Given the description of an element on the screen output the (x, y) to click on. 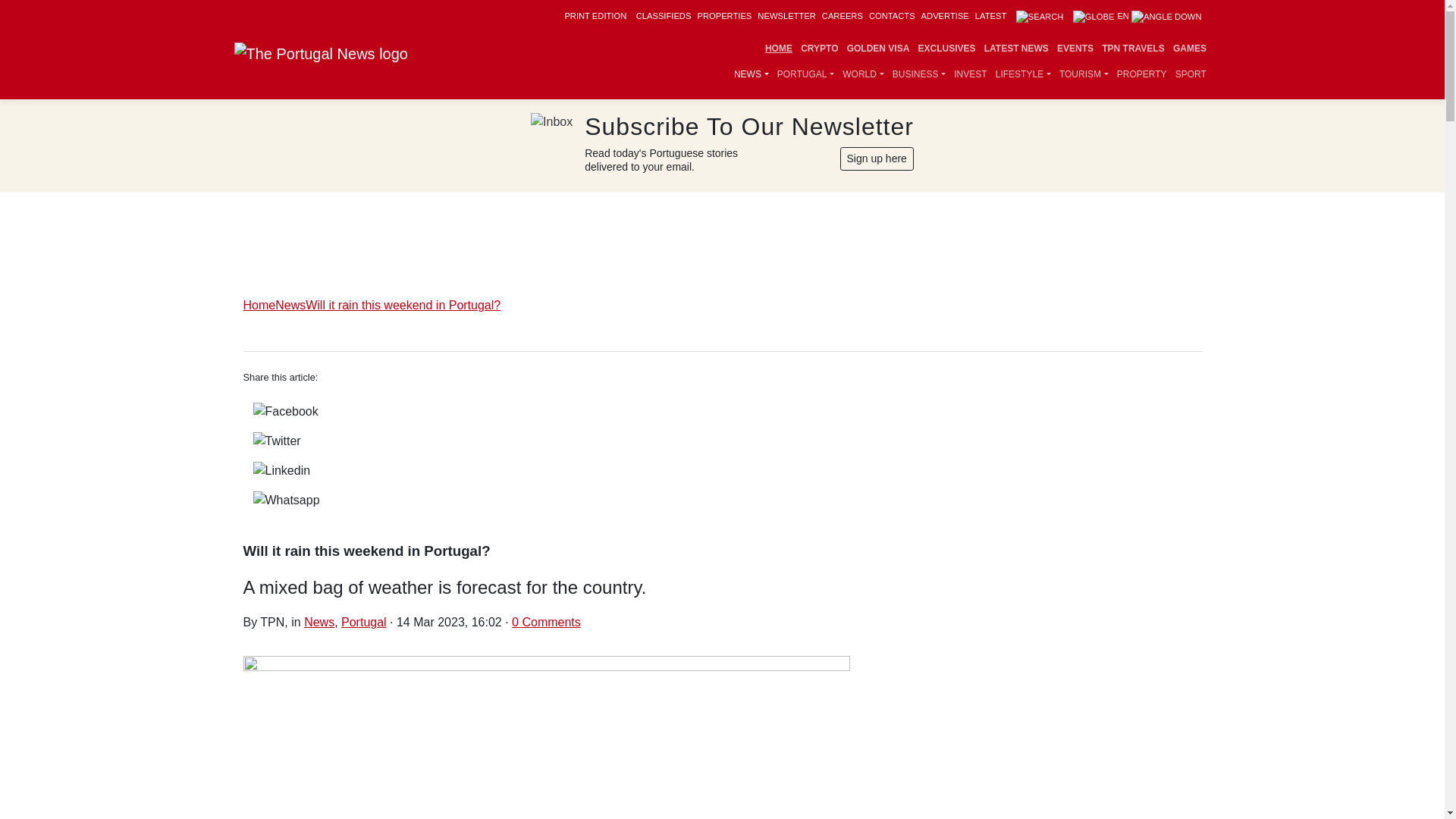
PROPERTIES (724, 15)
CONTACTS (892, 15)
GOLDEN VISA (878, 48)
NEWS (751, 73)
EVENTS (1074, 48)
GAMES (1189, 48)
ADVERTISE (945, 15)
PORTUGAL (805, 73)
NEWSLETTER (786, 15)
EN (1137, 15)
